Given the description of an element on the screen output the (x, y) to click on. 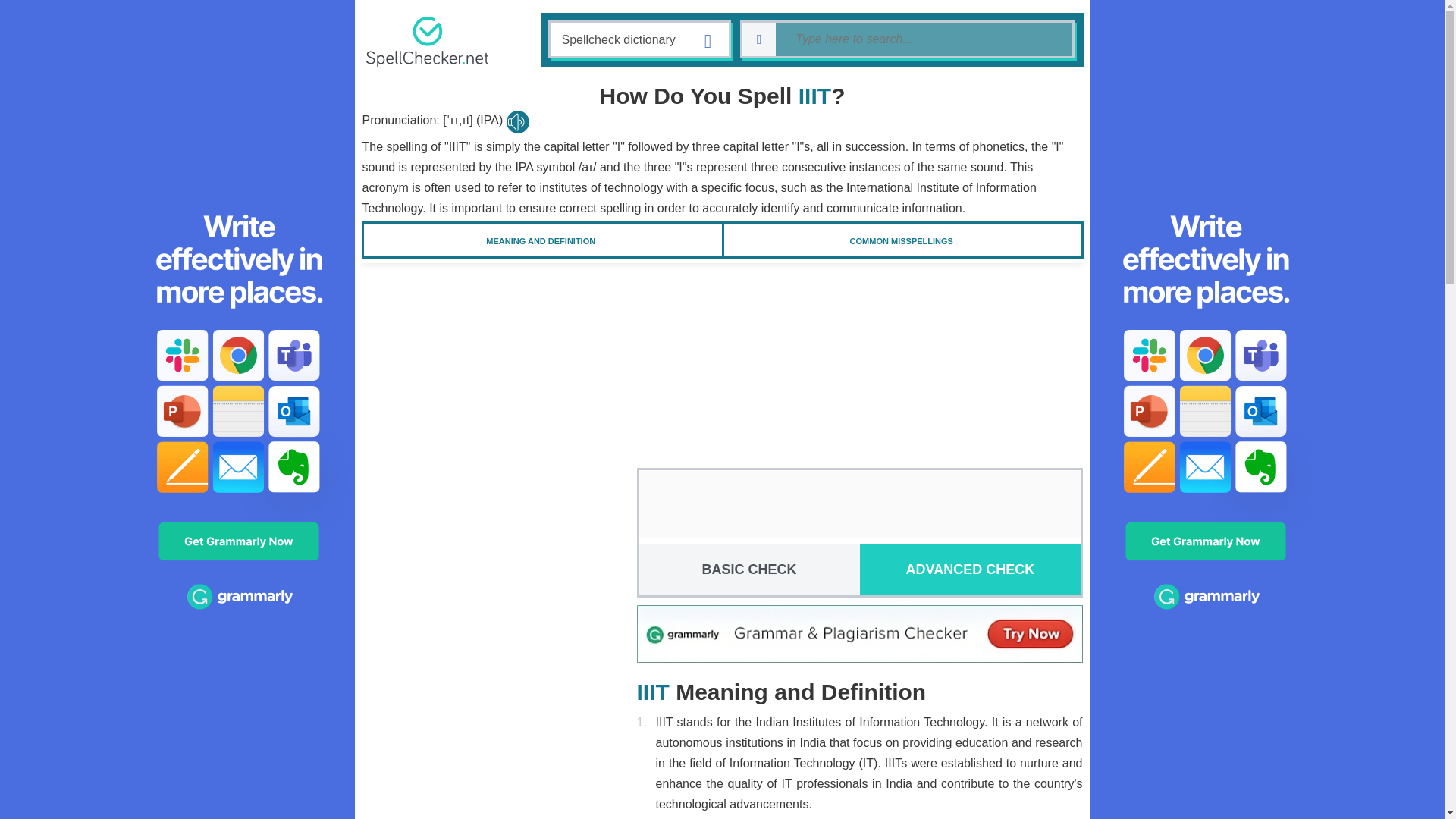
COMMON MISSPELLINGS (901, 239)
MEANING AND DEFINITION (540, 239)
ADVANCED CHECK (970, 569)
BASIC CHECK (749, 569)
COMMON MISSPELLINGS (901, 239)
MEANING AND DEFINITION (540, 239)
SpellChecker.net (426, 41)
